Given the description of an element on the screen output the (x, y) to click on. 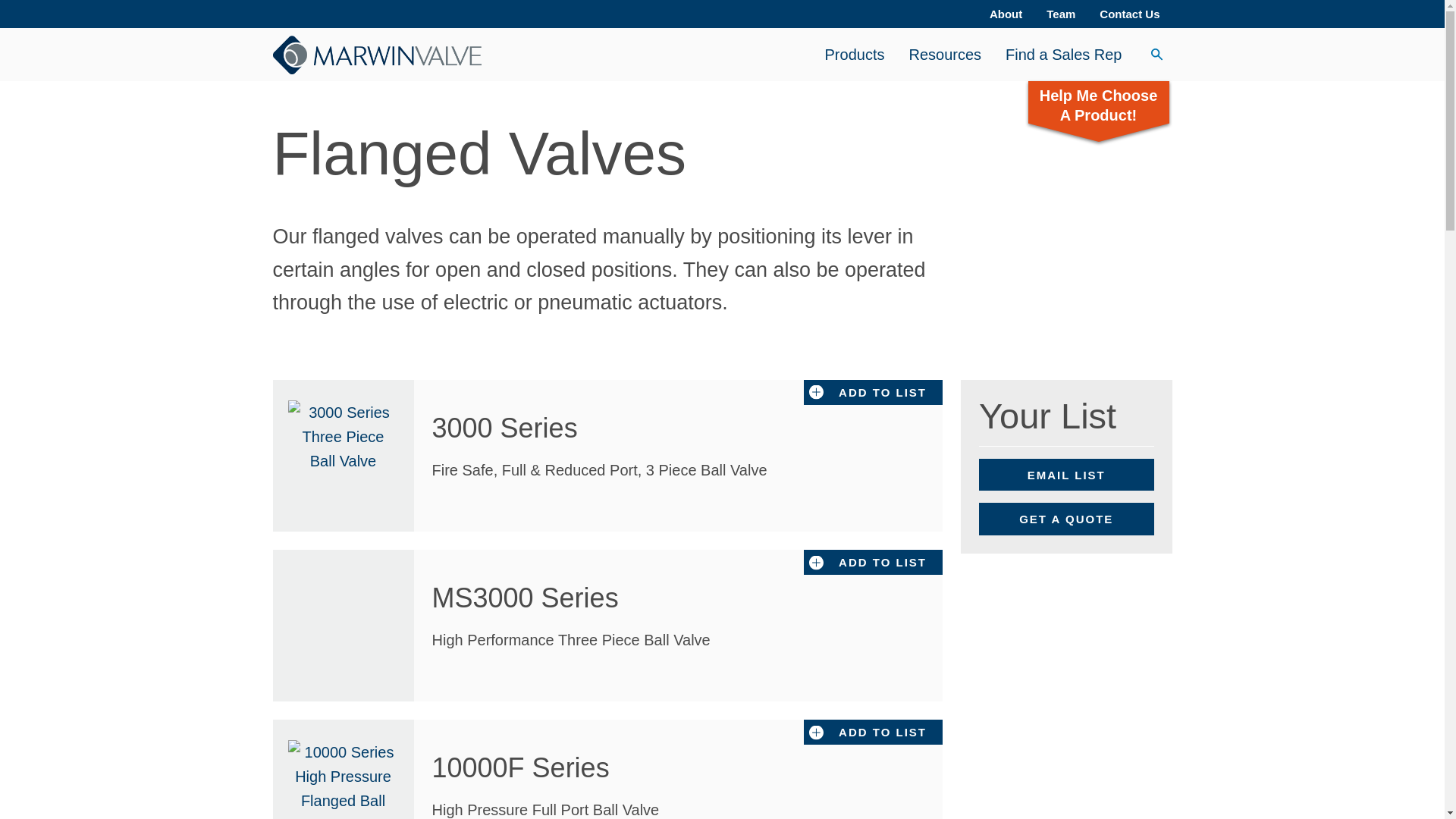
ADD TO LIST (872, 561)
10000F Series (539, 767)
About (1004, 13)
Find a Sales Rep (1063, 54)
ADD TO LIST (872, 731)
Products (854, 54)
Team (1060, 13)
MS3000 Series (544, 597)
3000 Series (523, 427)
Contact Us (1129, 13)
